Given the description of an element on the screen output the (x, y) to click on. 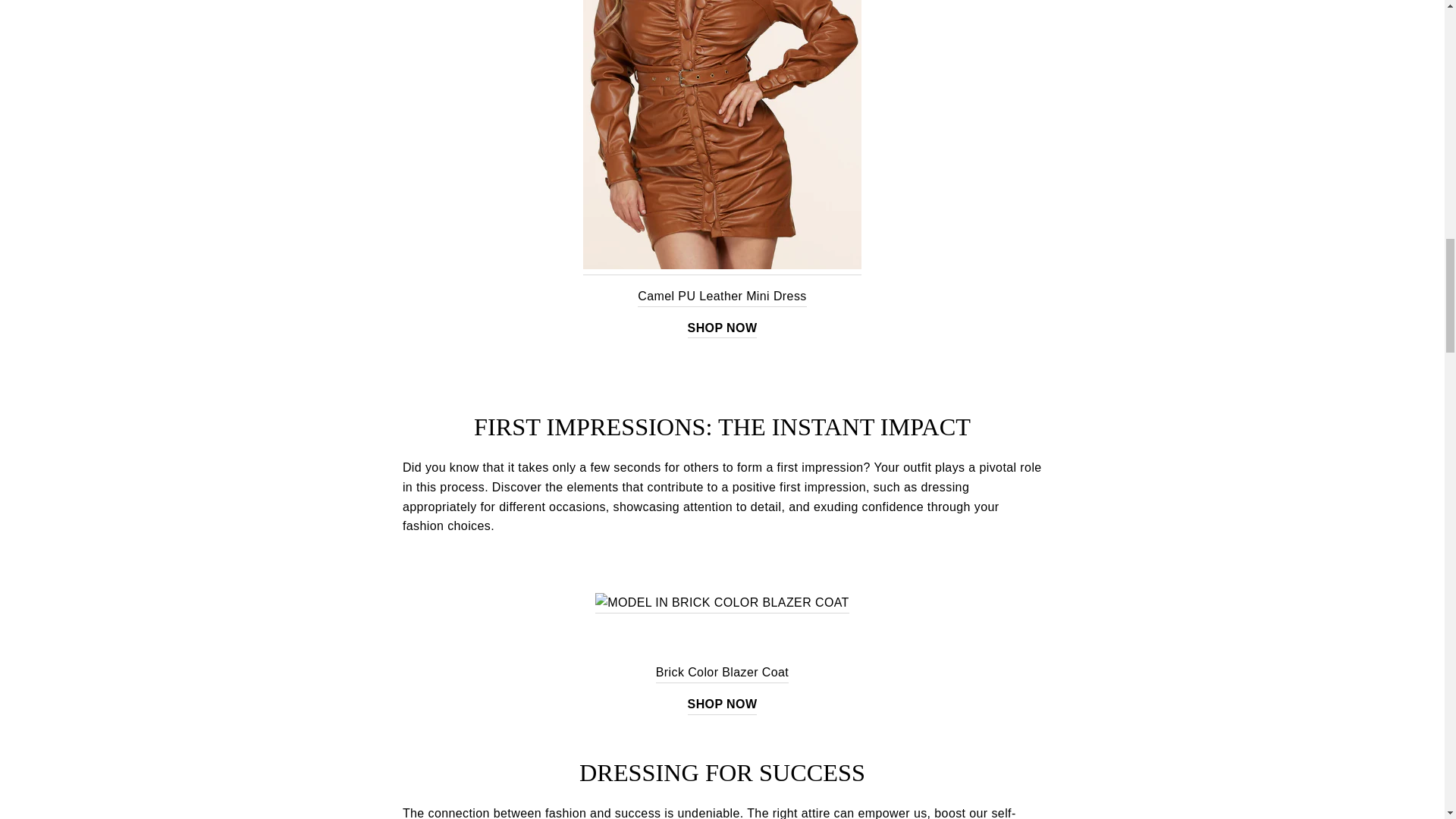
CAMEL PU LEATHER MINI DRESS (722, 138)
BRICK COLOR BLAZER COAT (721, 602)
